Given the description of an element on the screen output the (x, y) to click on. 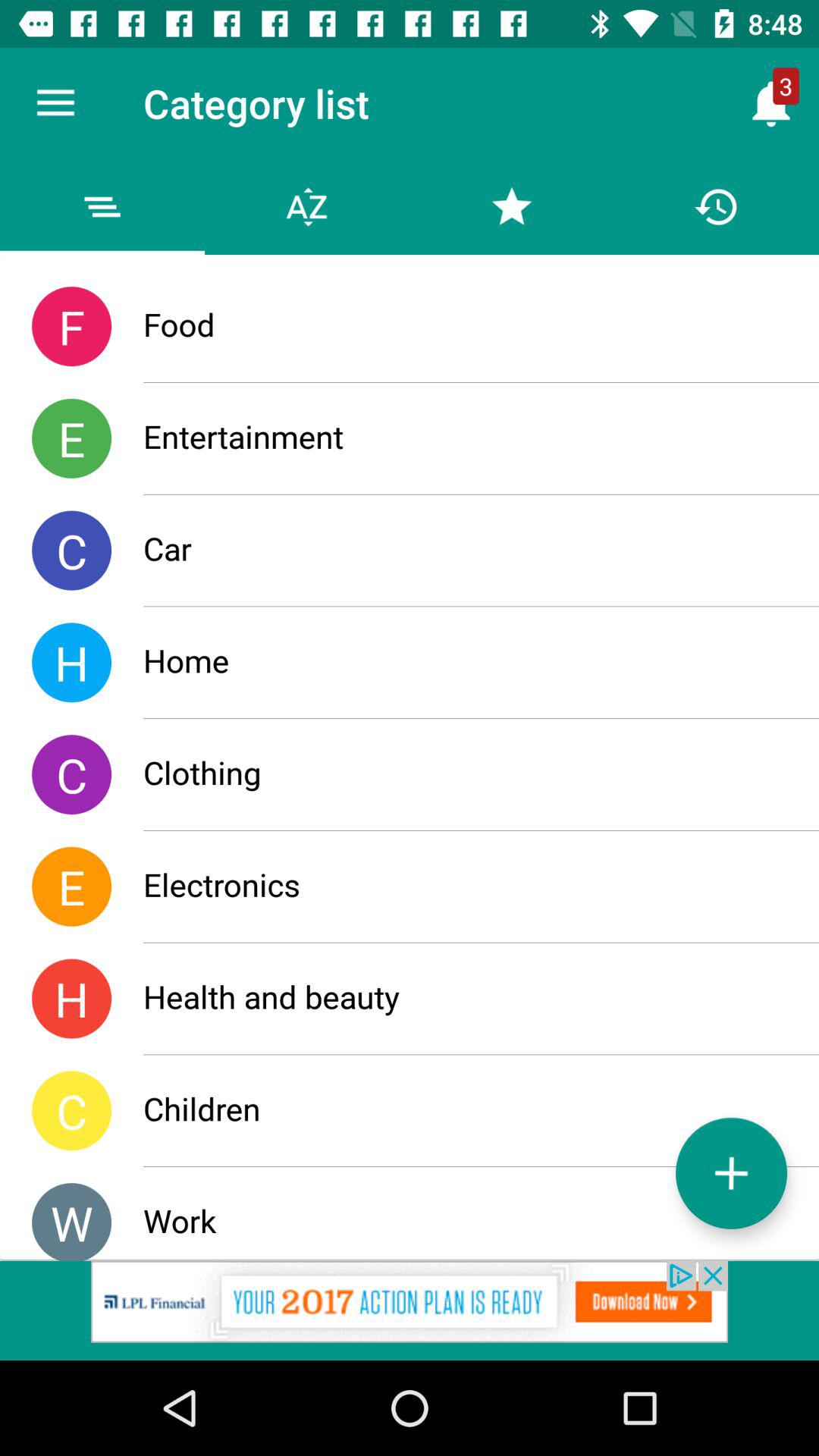
add list (731, 1173)
